Given the description of an element on the screen output the (x, y) to click on. 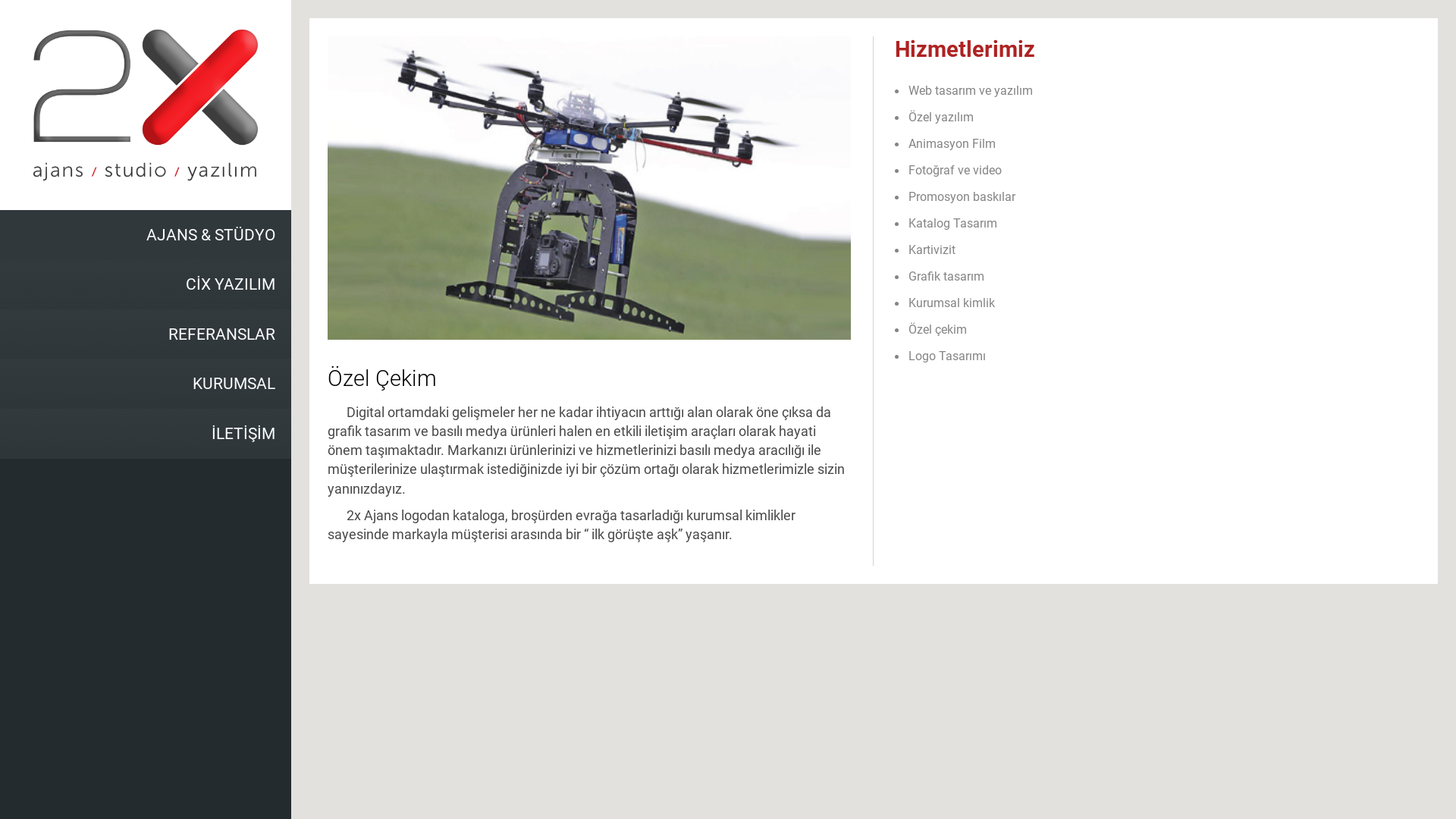
REFERANSLAR Element type: text (145, 334)
Kartivizit Element type: text (1156, 249)
Kurumsal kimlik Element type: text (1156, 302)
Animasyon Film Element type: text (1156, 143)
KURUMSAL Element type: text (145, 383)
